Given the description of an element on the screen output the (x, y) to click on. 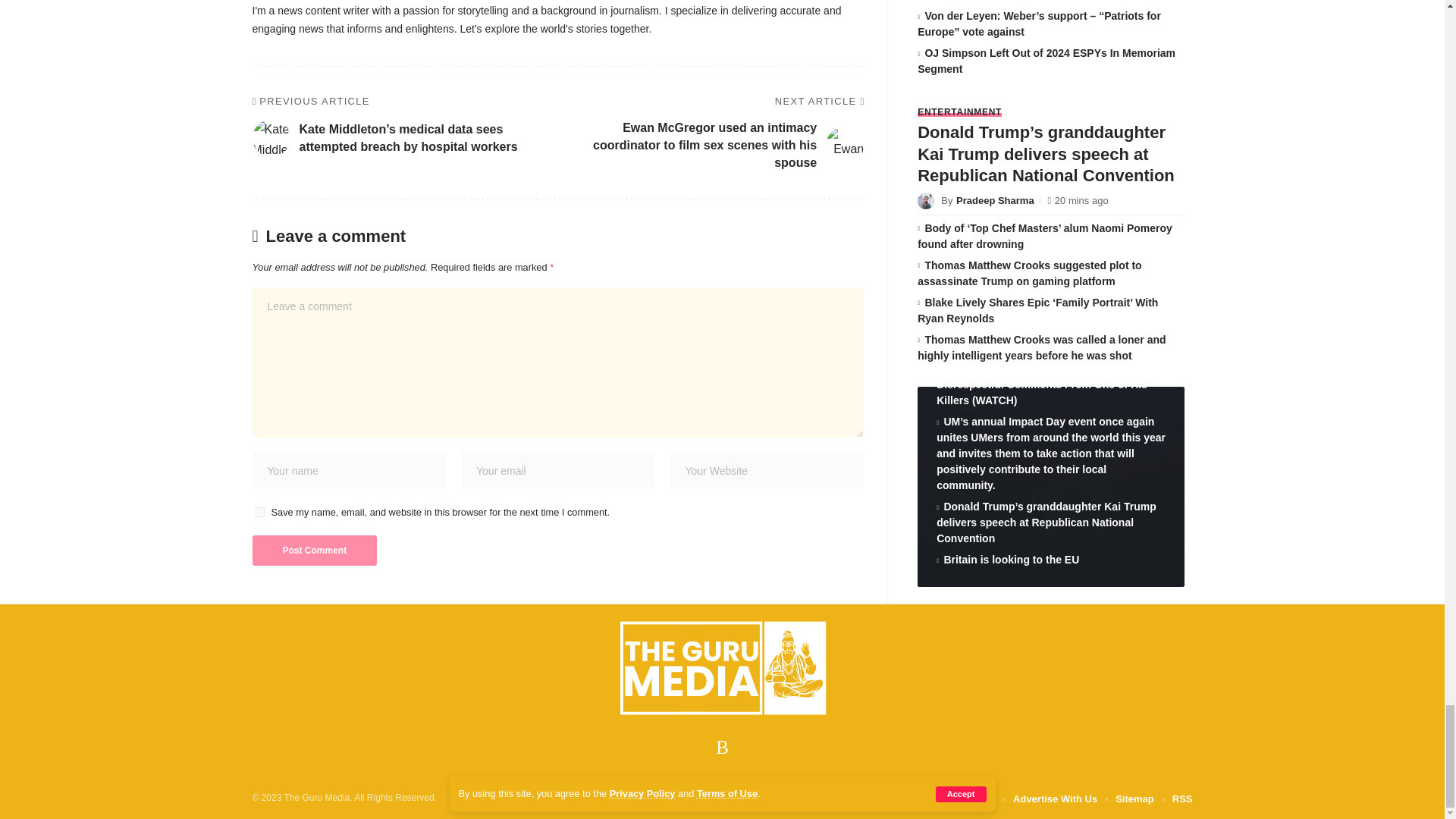
Post Comment (314, 550)
yes (259, 511)
